Given the description of an element on the screen output the (x, y) to click on. 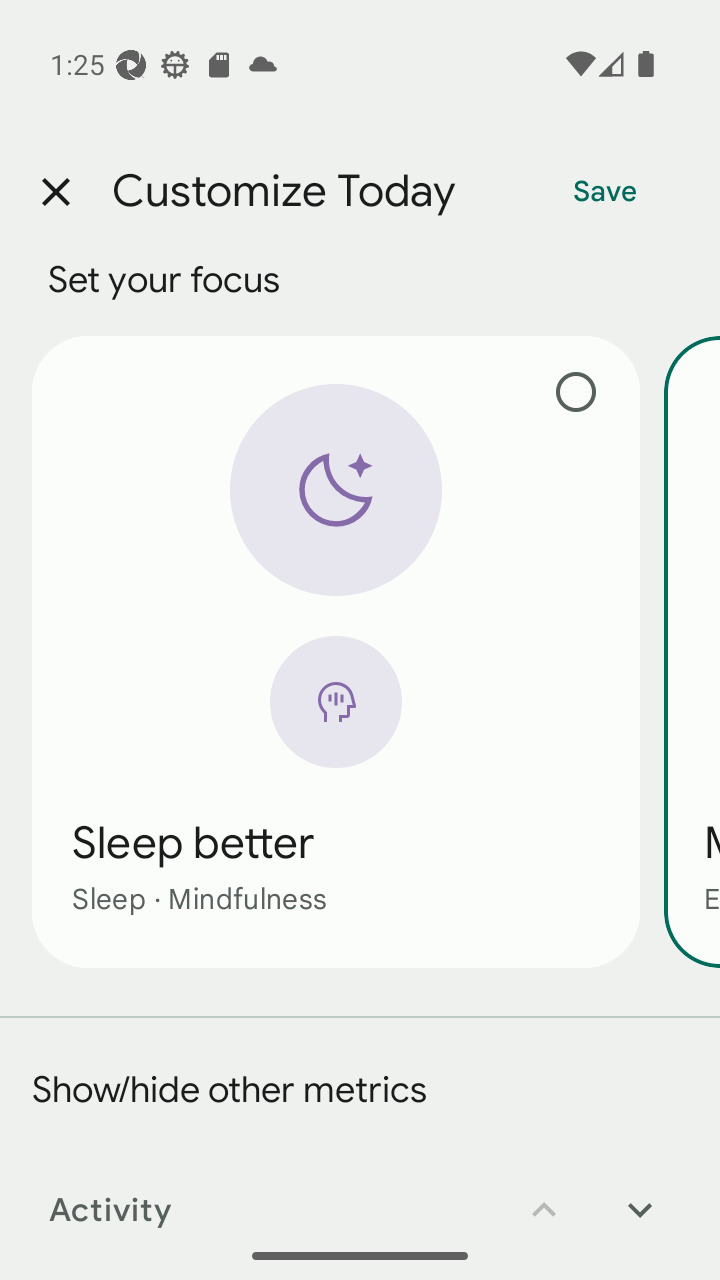
Close (55, 191)
Save (605, 191)
Sleep better Sleep · Mindfulness (335, 651)
Move Activity up (543, 1196)
Move Activity down (639, 1196)
